Given the description of an element on the screen output the (x, y) to click on. 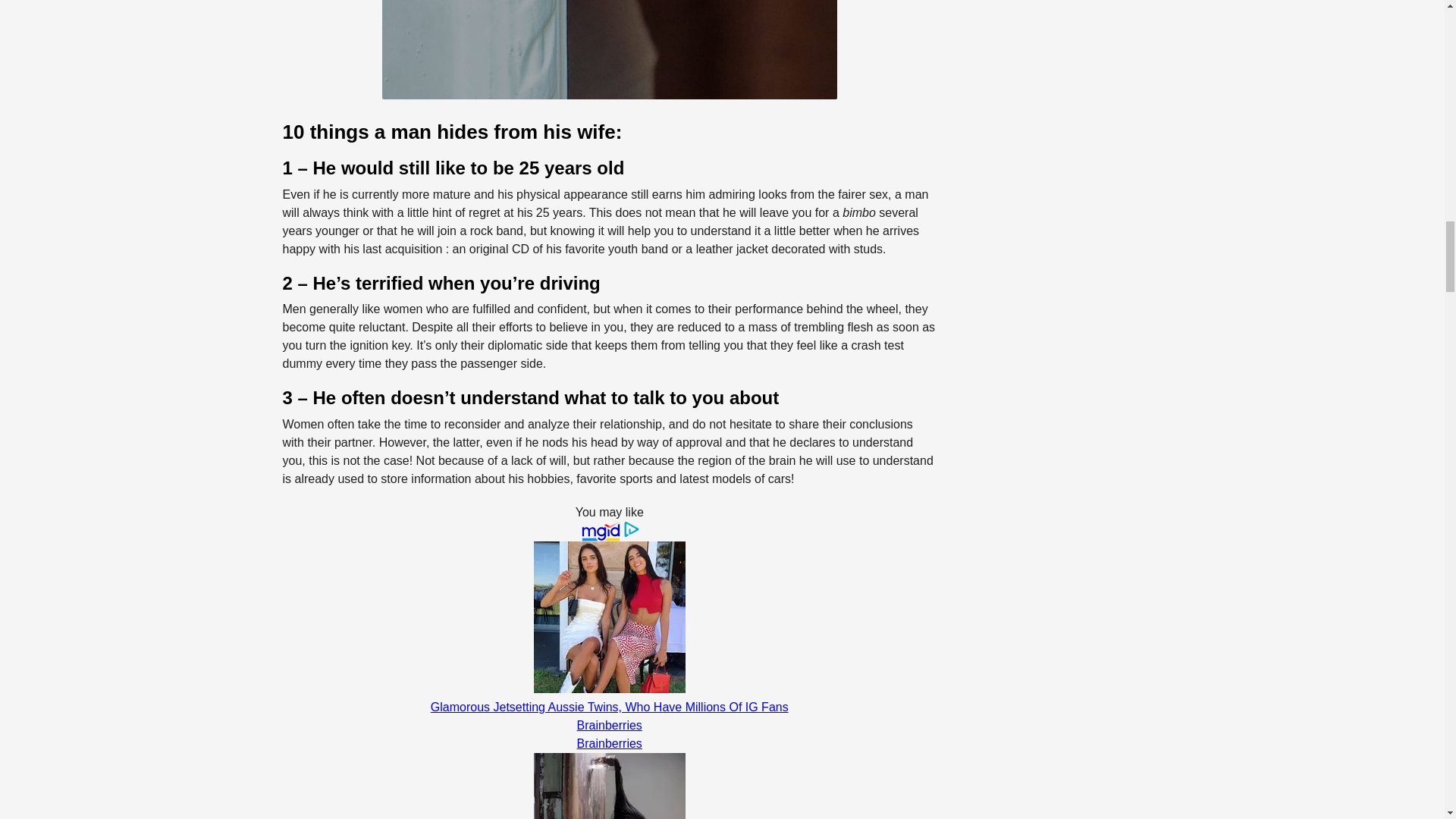
men-hide-from-his-wife-1 (609, 49)
